Given the description of an element on the screen output the (x, y) to click on. 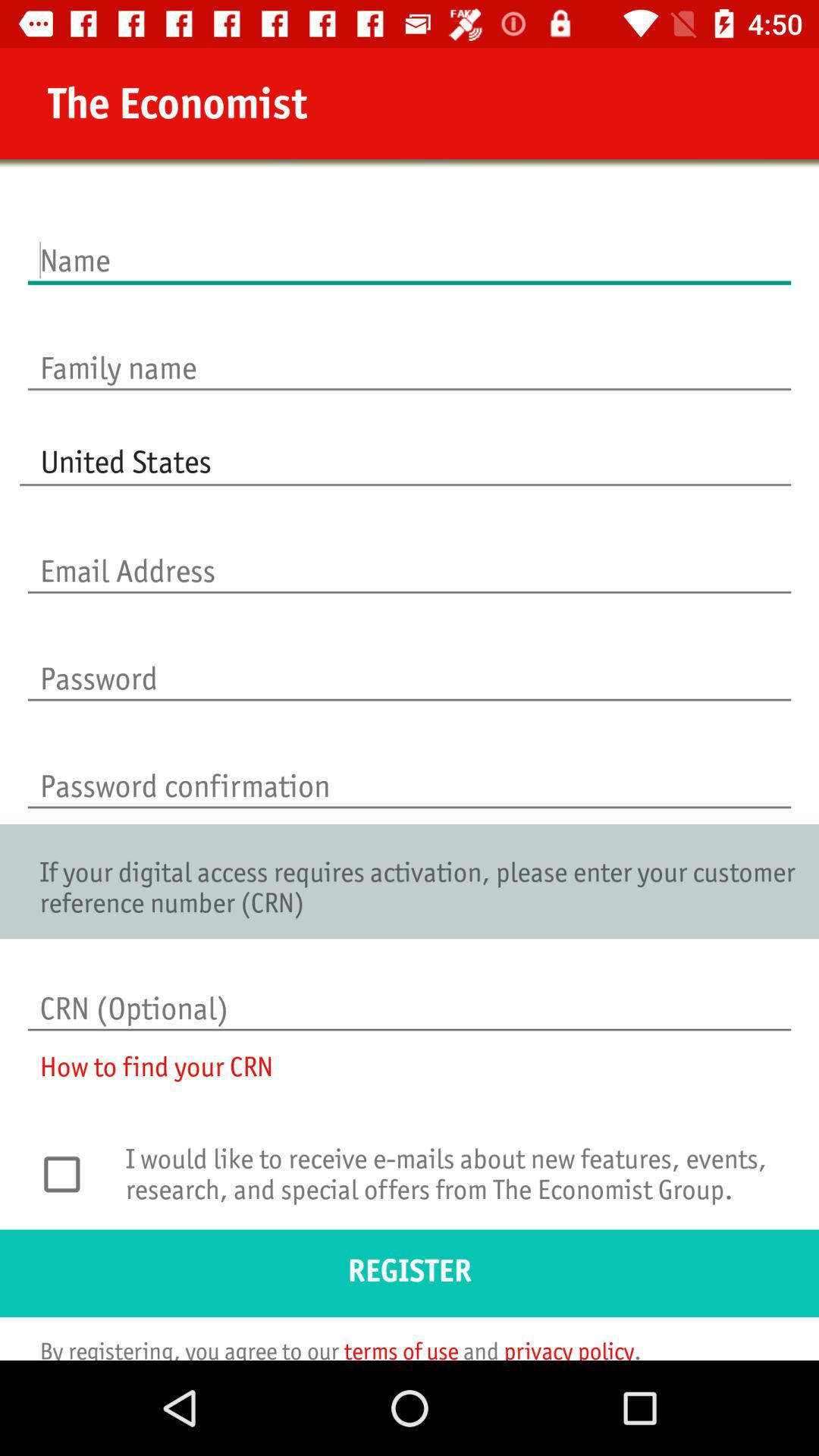
re-enter password (409, 770)
